Given the description of an element on the screen output the (x, y) to click on. 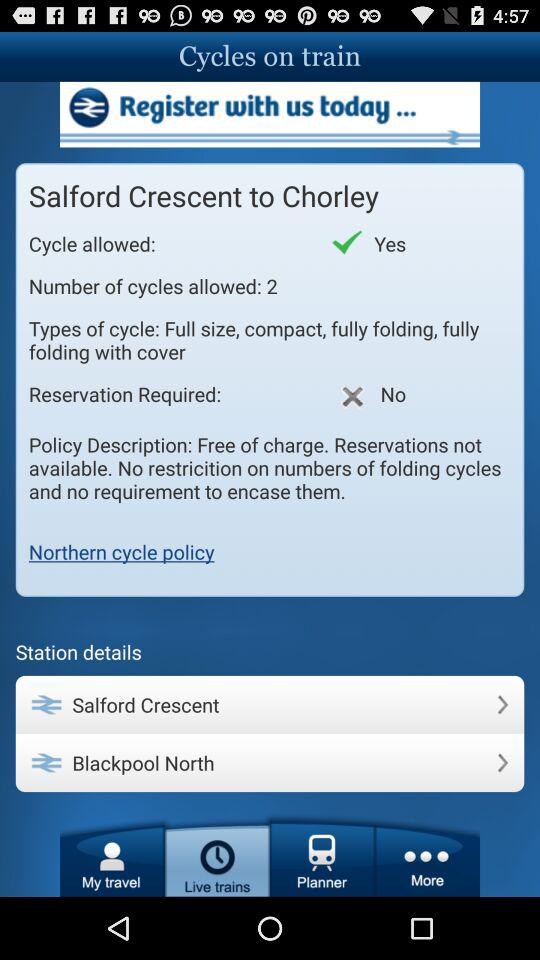
go to registration page (270, 114)
